Given the description of an element on the screen output the (x, y) to click on. 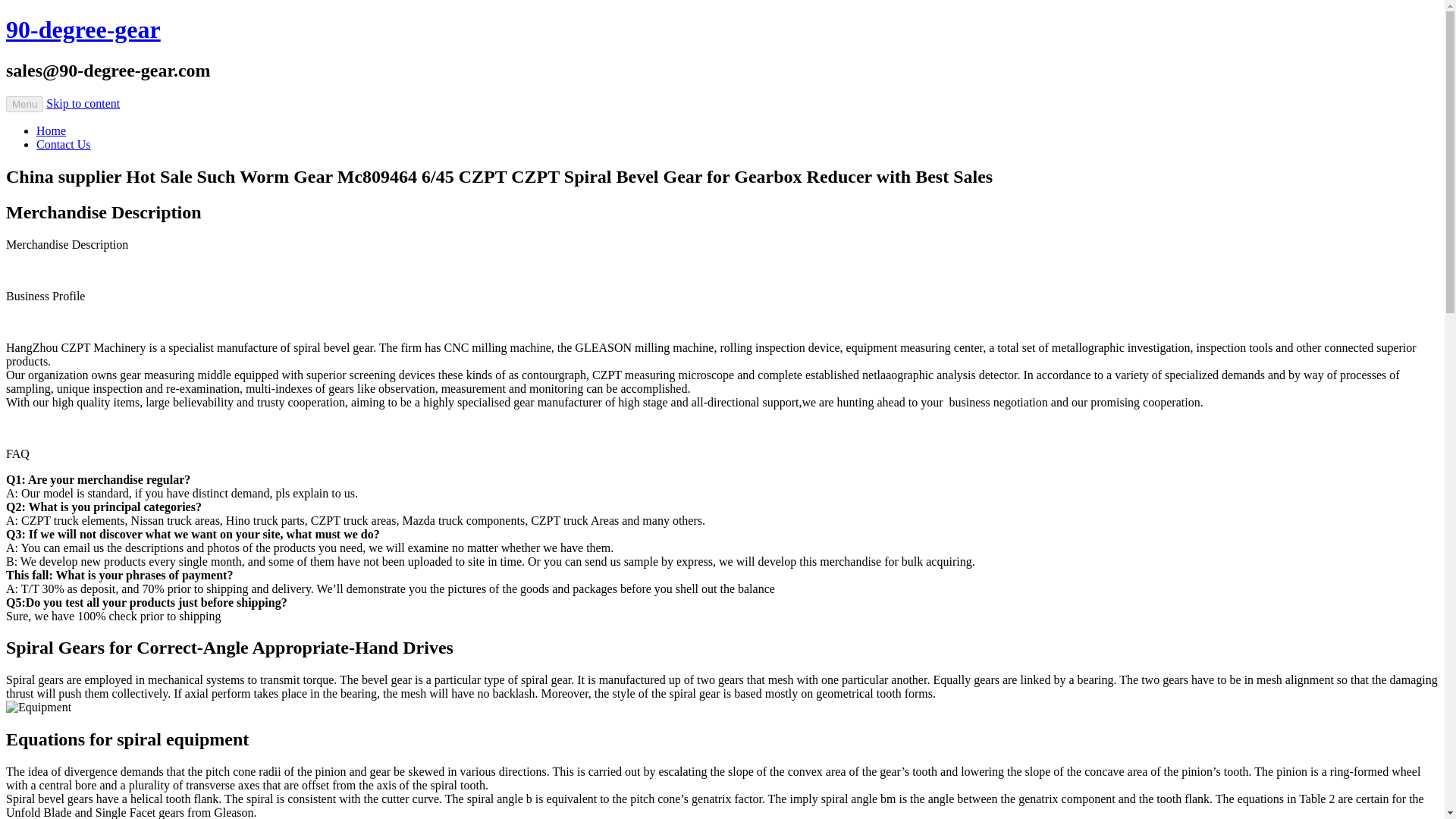
Contact Us (63, 144)
Home (50, 130)
90-degree-gear (82, 29)
Skip to content (82, 103)
Menu (24, 104)
